Given the description of an element on the screen output the (x, y) to click on. 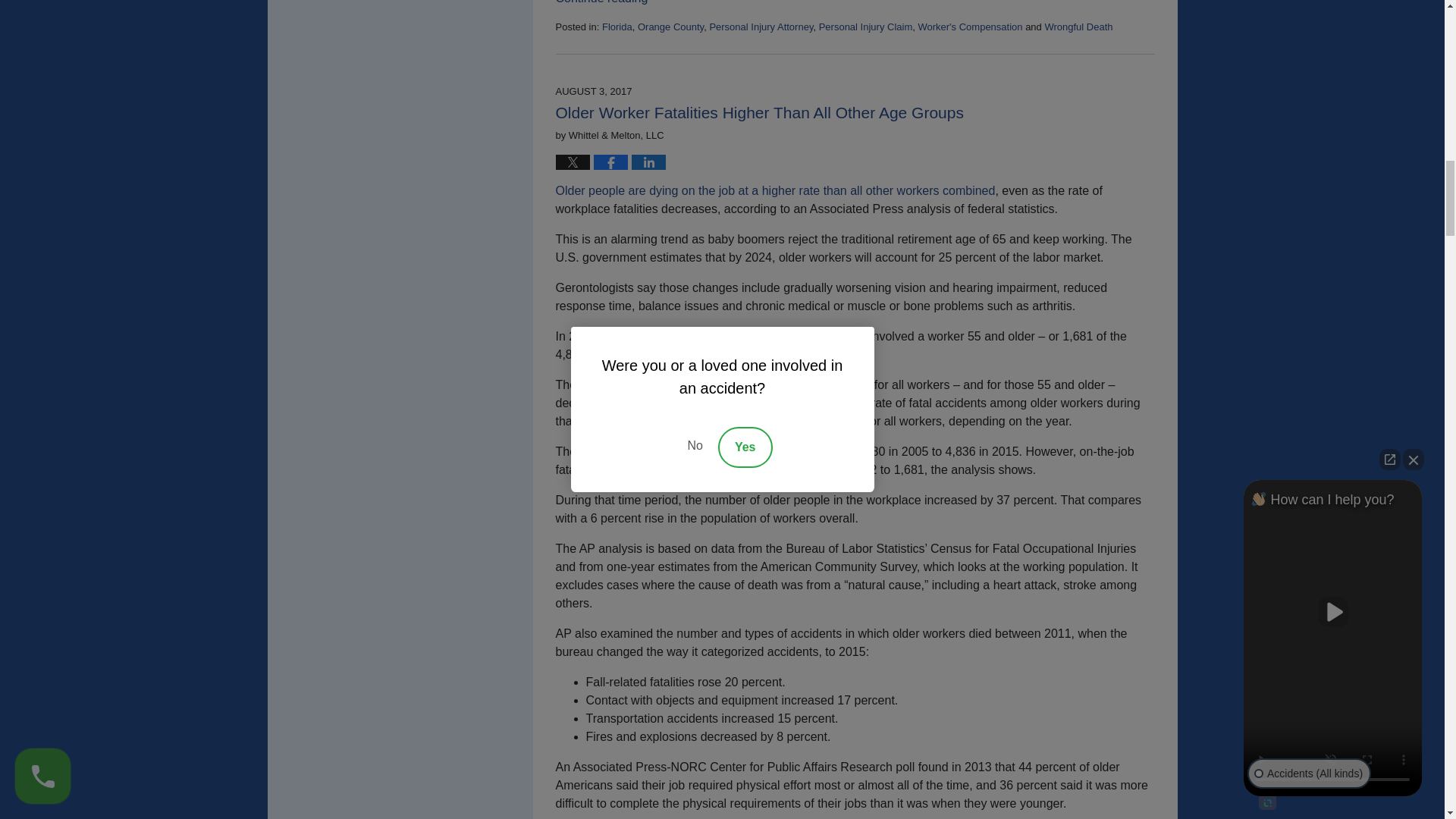
Florida (616, 26)
Wrongful Death (1077, 26)
Personal Injury Claim (865, 26)
Personal Injury Attorney (760, 26)
Worker's Compensation (969, 26)
Continue reading (600, 2)
View all posts in Worker's Compensation (969, 26)
Older Worker Fatalities Higher Than All Other Age Groups (758, 112)
View all posts in Personal Injury Attorney (760, 26)
View all posts in Florida (616, 26)
View all posts in Wrongful Death (1077, 26)
View all posts in Personal Injury Claim (865, 26)
View all posts in Orange County (670, 26)
